Given the description of an element on the screen output the (x, y) to click on. 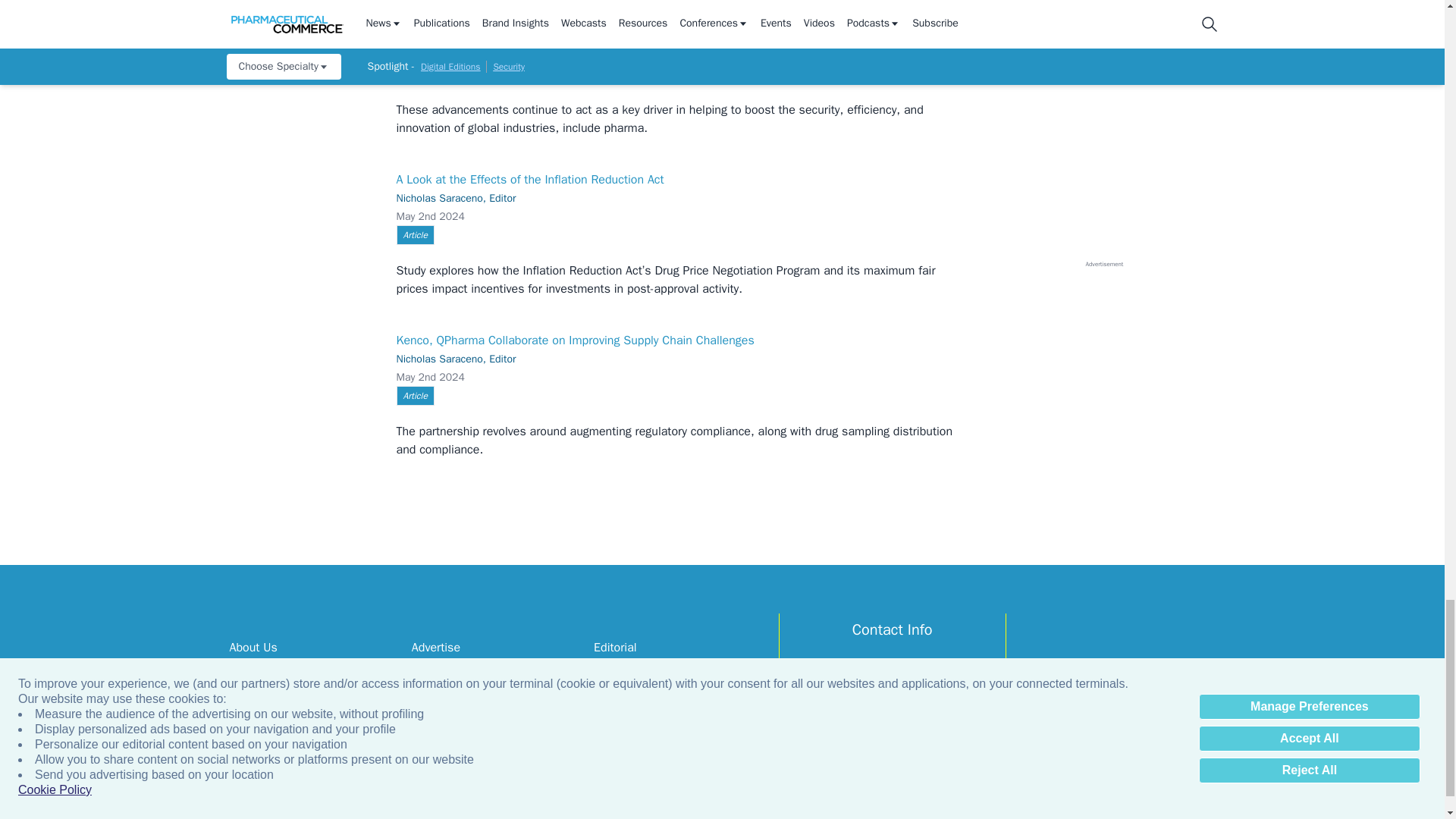
A Look at the Effects of the Inflation Reduction Act  (304, 217)
